Given the description of an element on the screen output the (x, y) to click on. 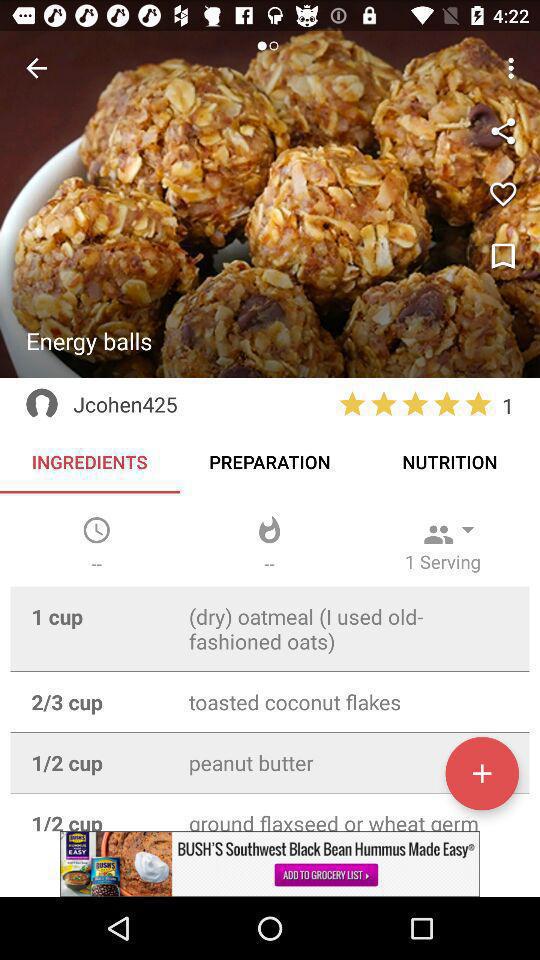
click on the star option (351, 404)
click on the toasted coconut flakes (349, 702)
go to the icon which is just above the 1 serving (438, 535)
select 23 cup (99, 702)
click on the clock icon (96, 530)
select love icon (502, 194)
click the share icon (502, 131)
